Given the description of an element on the screen output the (x, y) to click on. 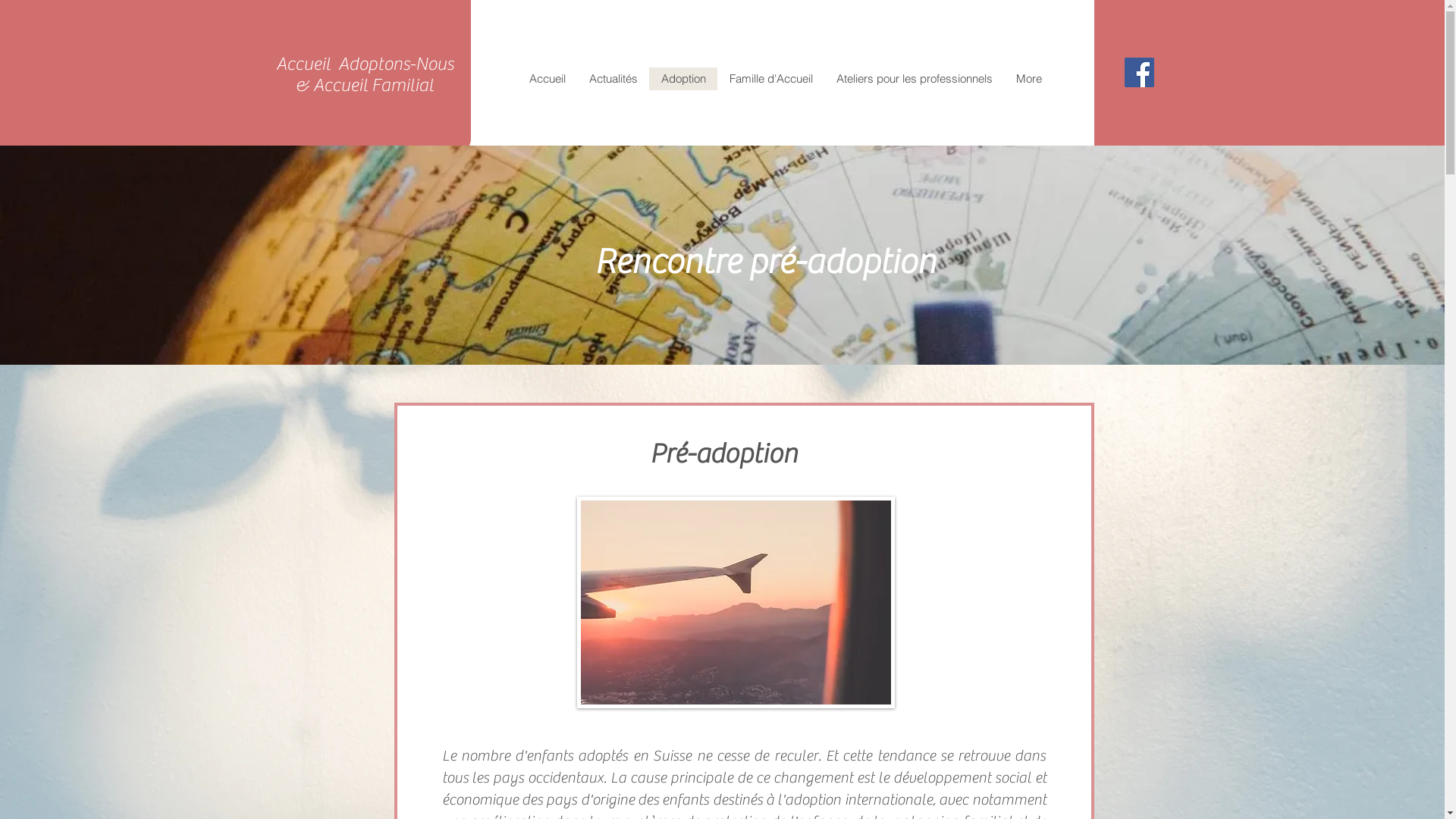
Adoption Element type: text (683, 78)
Famille d'Accueil Element type: text (770, 78)
& Accueil Familial Element type: text (363, 85)
Accueil  Adoptons-Nous Element type: text (364, 63)
Ateliers pour les professionnels Element type: text (913, 78)
Accueil Element type: text (546, 78)
